Given the description of an element on the screen output the (x, y) to click on. 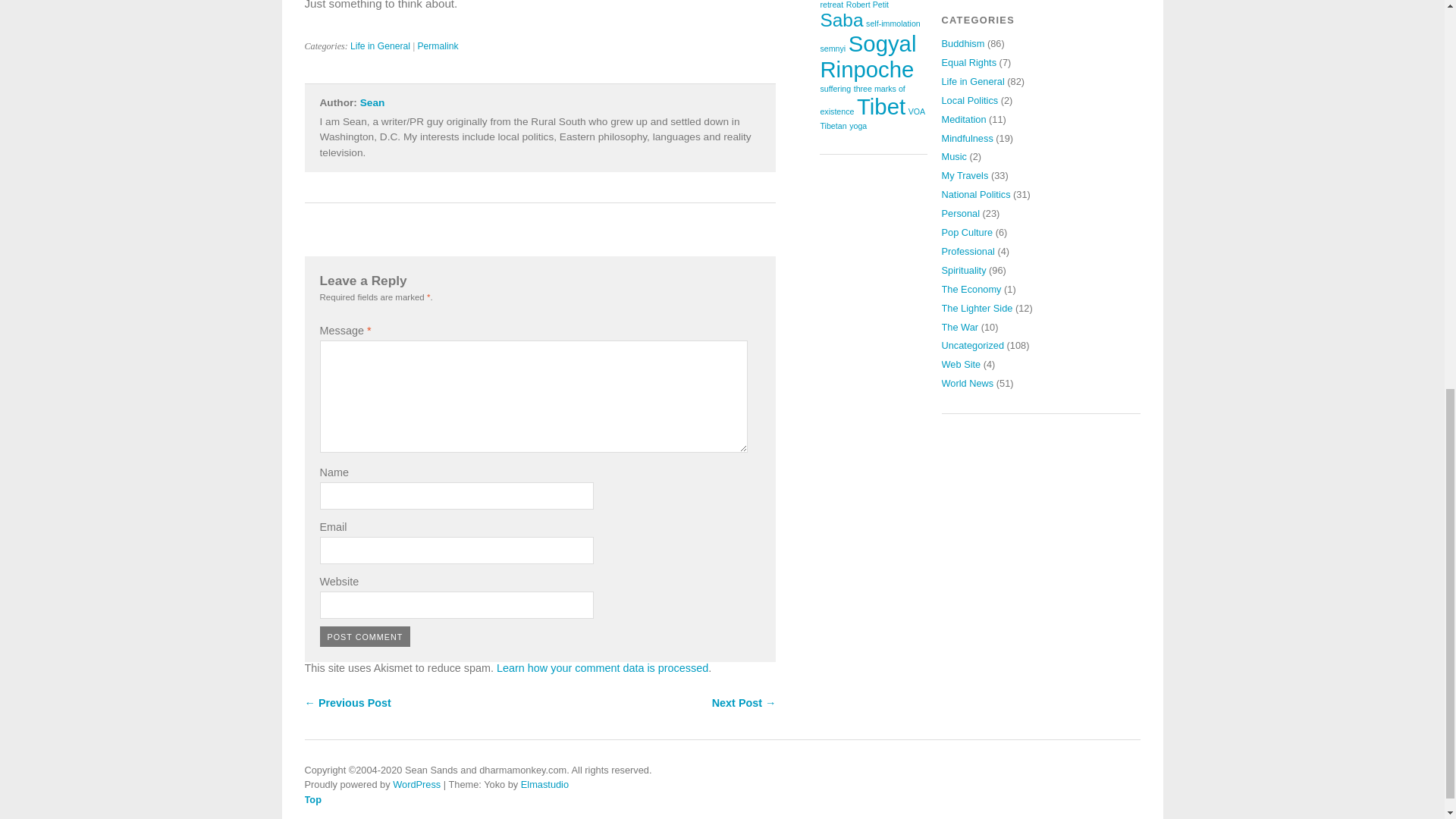
Permalink (437, 45)
Post Comment (365, 636)
Post Comment (365, 636)
Life in General (380, 45)
Learn how your comment data is processed (601, 667)
Sean (372, 102)
Sean (372, 102)
